Given the description of an element on the screen output the (x, y) to click on. 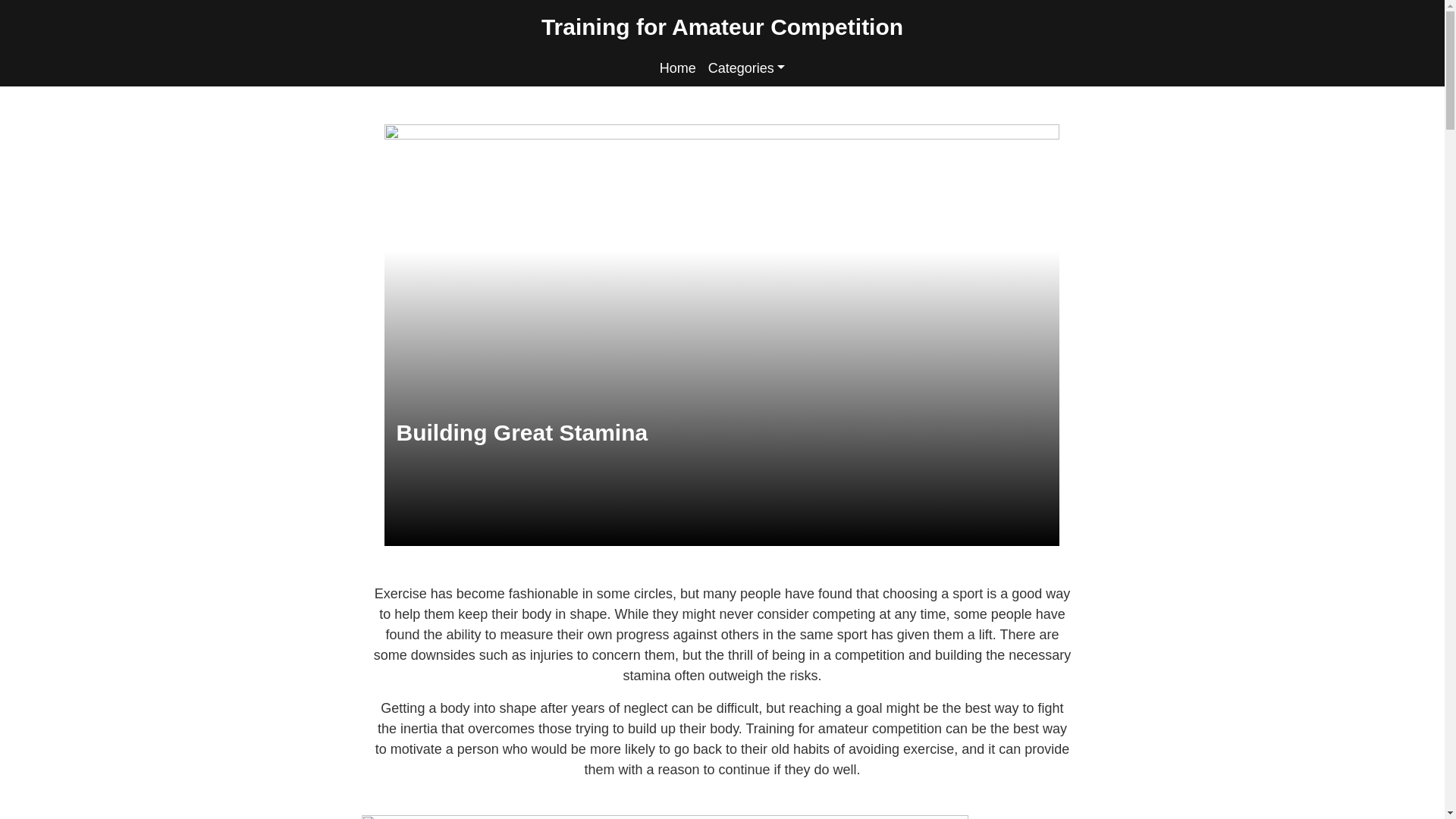
Building Great Stamina (521, 432)
Categories (746, 68)
Training for Amateur Competition (721, 26)
Home (677, 68)
